Given the description of an element on the screen output the (x, y) to click on. 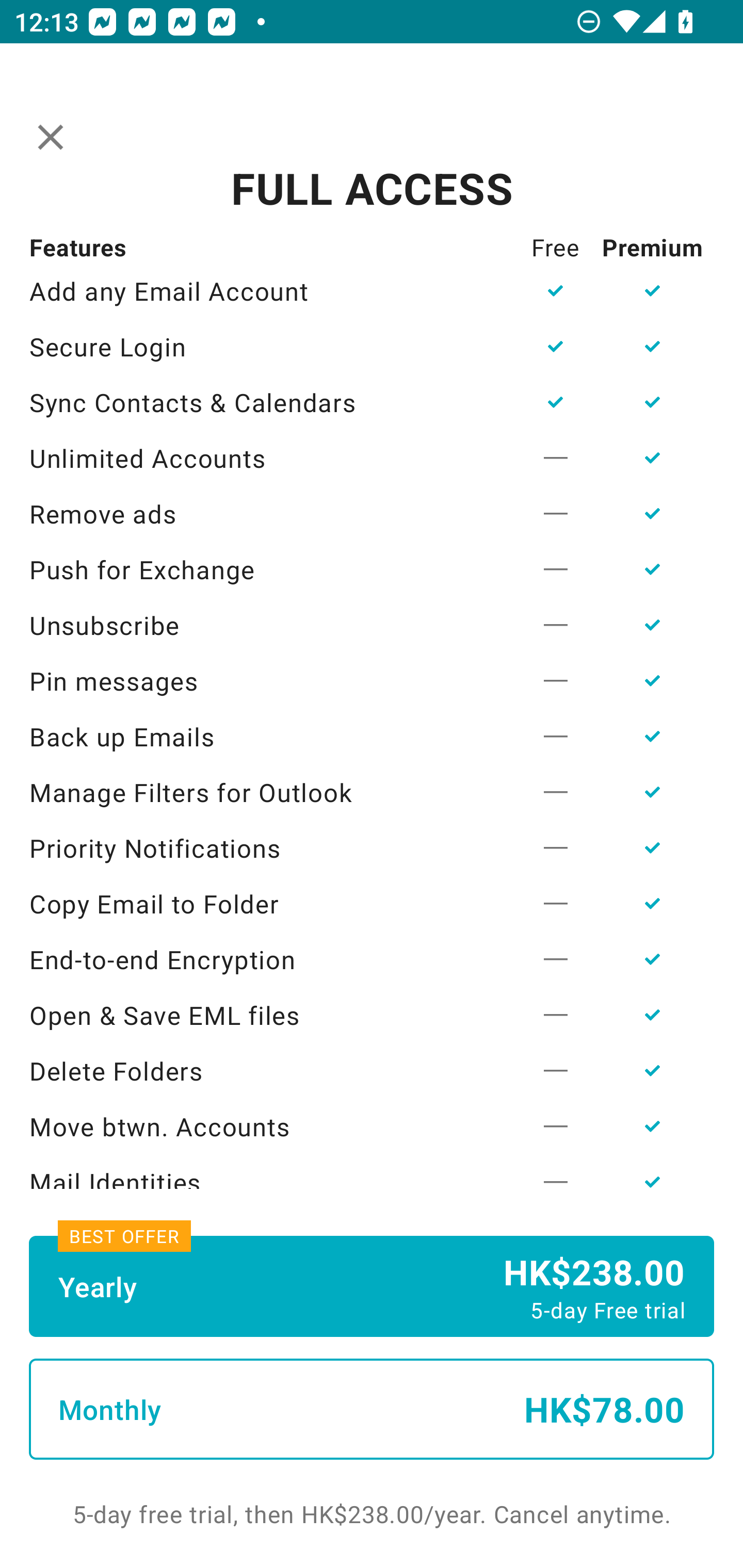
Yearly HK$238.00 5-day Free trial (371, 1286)
Monthly HK$78.00 (371, 1408)
